Given the description of an element on the screen output the (x, y) to click on. 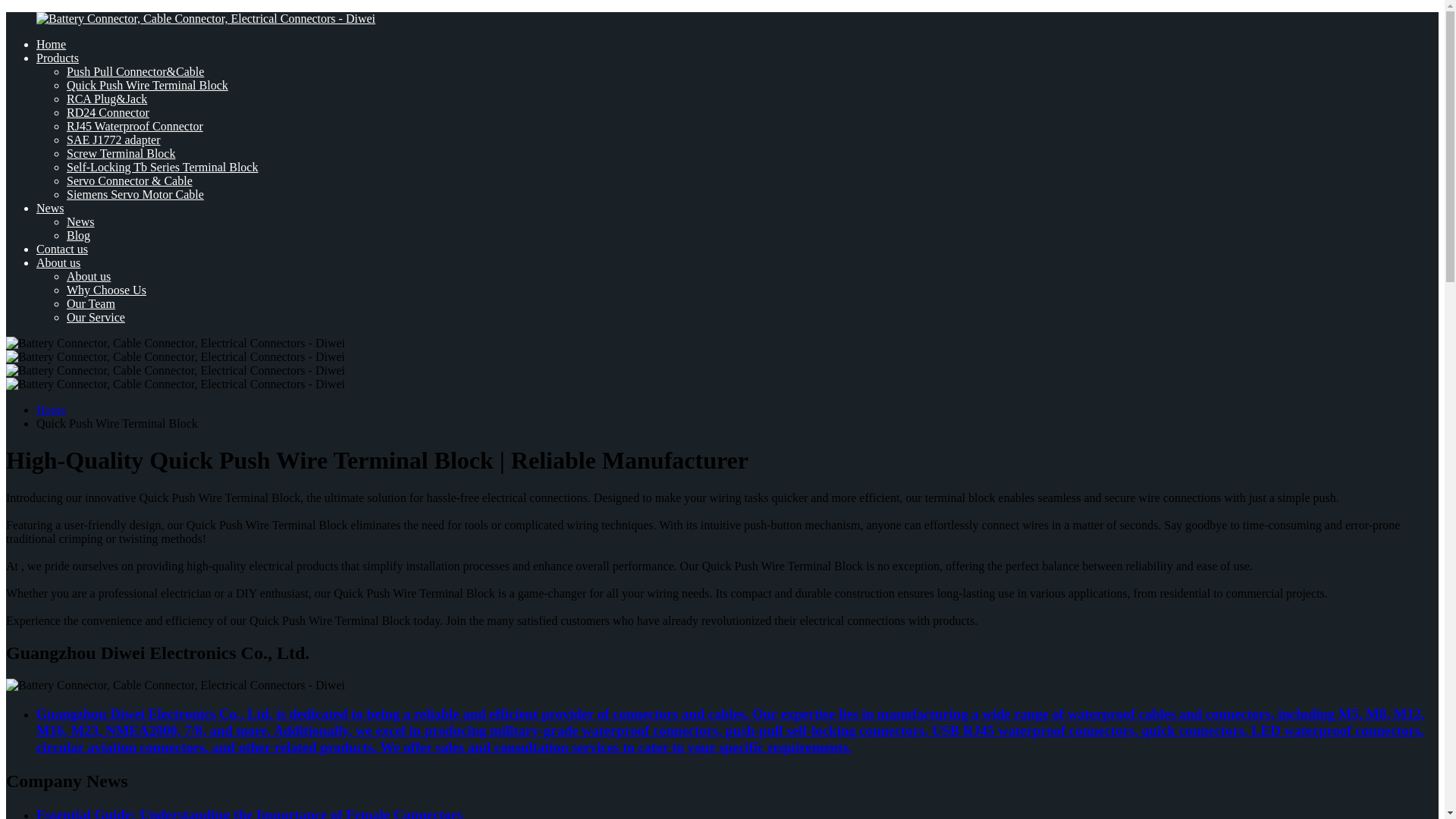
Self-Locking Tb Series Terminal Block (161, 166)
Home (50, 43)
RD24 Connector (107, 112)
About us (58, 262)
News (80, 221)
Siemens Servo Motor Cable (134, 194)
Our Team (90, 303)
Quick Push Wire Terminal Block (147, 84)
Products (57, 57)
News (50, 207)
